Given the description of an element on the screen output the (x, y) to click on. 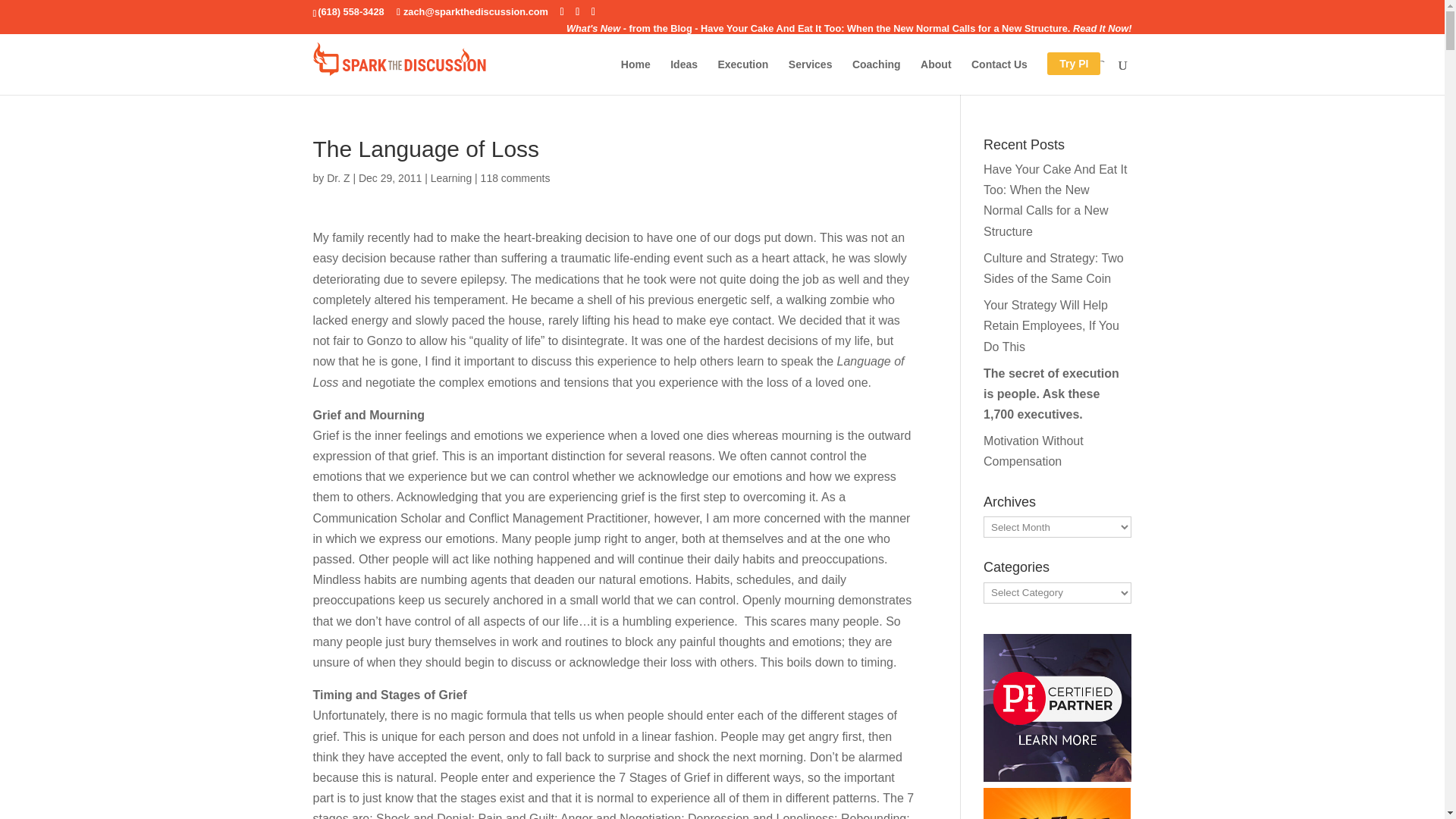
Learning (450, 177)
118 comments (515, 177)
Posts by Dr. Z (337, 177)
Learn about the Predictive Index (1057, 707)
Contact Us (999, 76)
Dr. Z (337, 177)
Services (810, 76)
Execution (742, 76)
Read It Now! (1102, 28)
Coaching (876, 76)
Send us an Email (472, 11)
Clash Coach available on the Apple App Store (1057, 803)
